Given the description of an element on the screen output the (x, y) to click on. 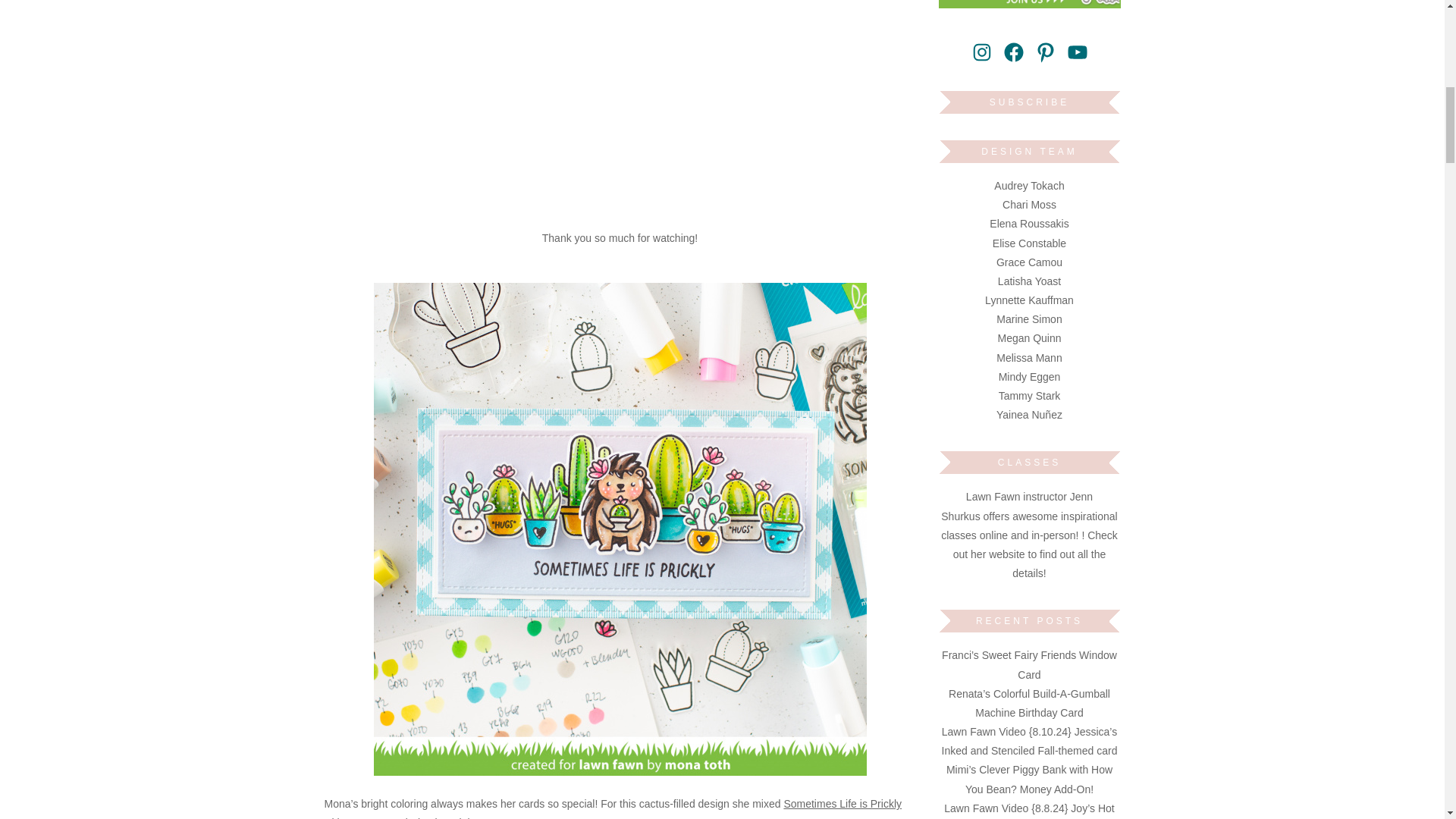
Sometimes Life is Prickly (842, 803)
Simply Celebrate Summer (472, 817)
Year Ten (366, 817)
